Given the description of an element on the screen output the (x, y) to click on. 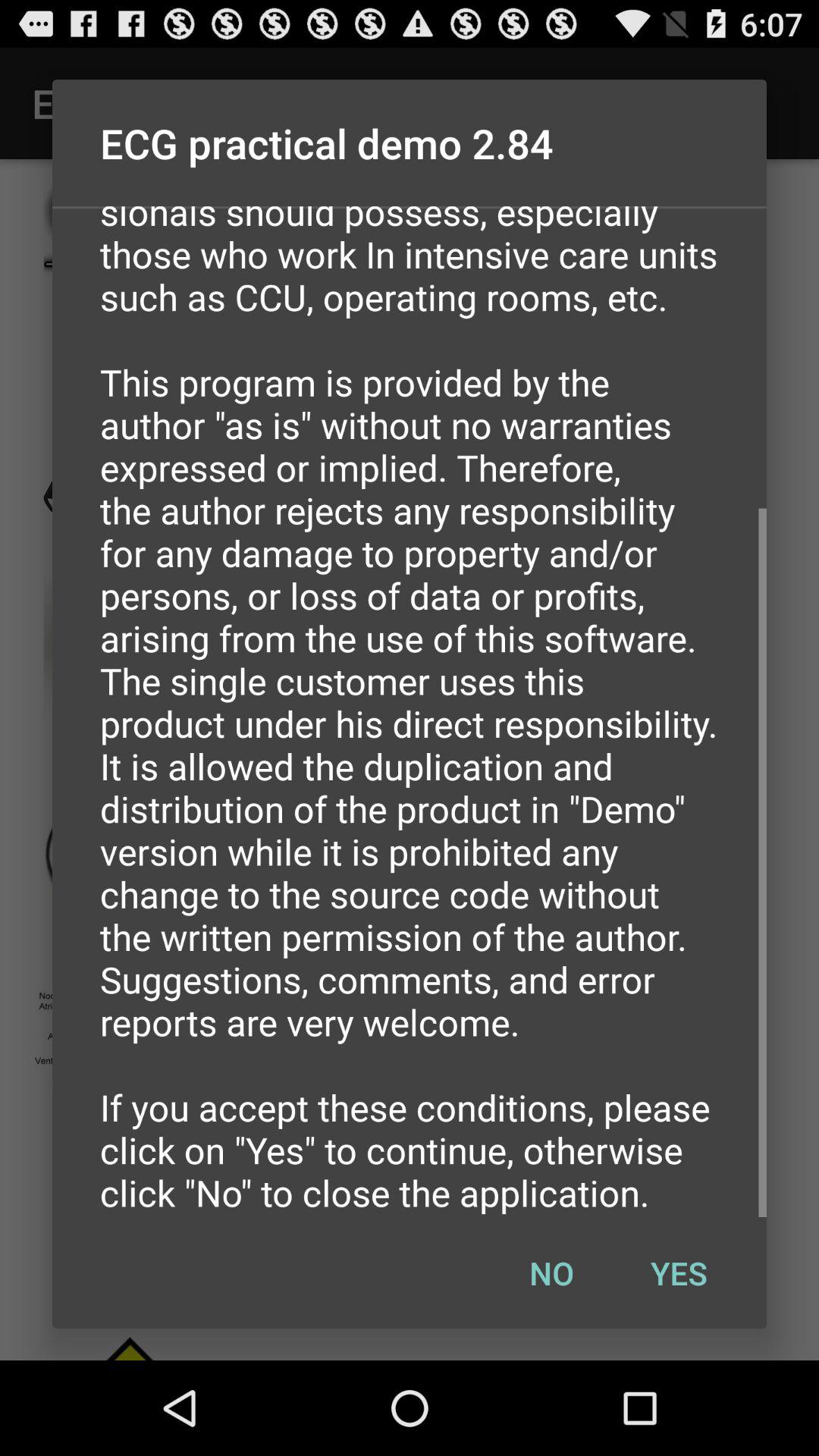
choose icon next to yes item (551, 1272)
